Given the description of an element on the screen output the (x, y) to click on. 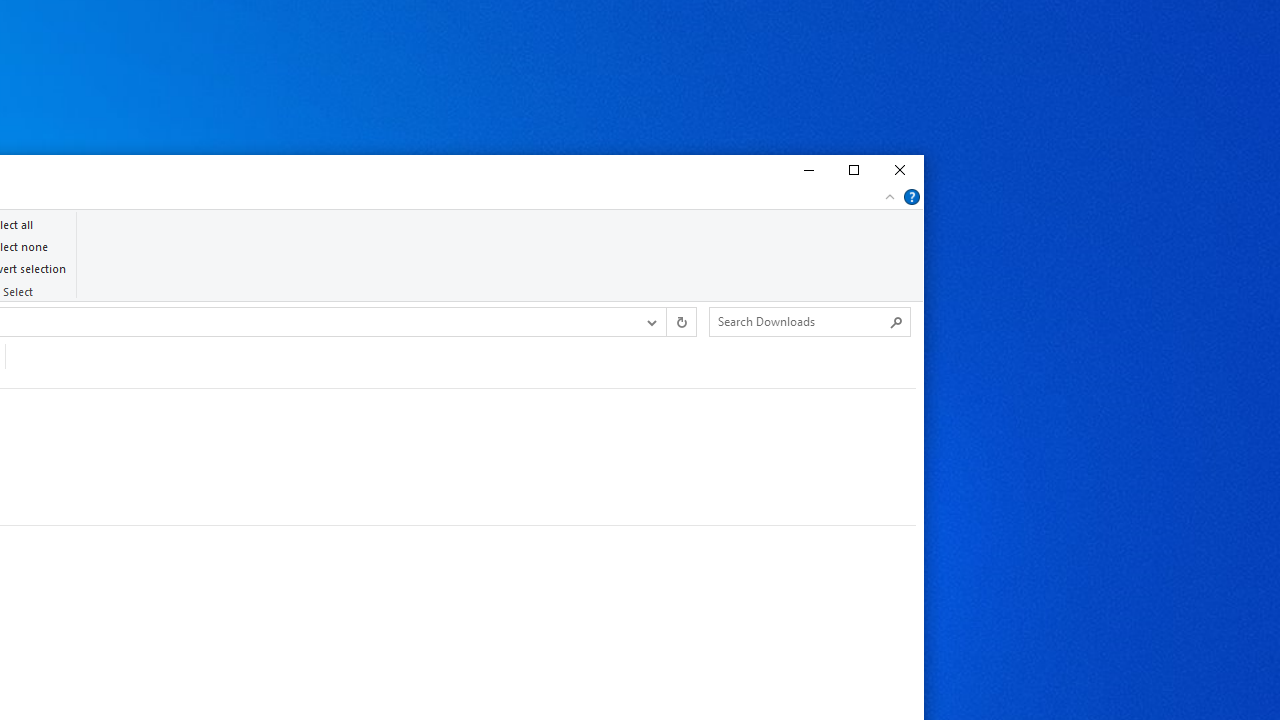
Maximize (853, 170)
Help (911, 196)
Refresh "Downloads" (F5) (680, 321)
Minimize (806, 170)
Search Box (799, 321)
Search (896, 321)
Previous Locations (650, 321)
Minimize the Ribbon (890, 196)
Address band toolbar (666, 321)
Close (900, 170)
